Given the description of an element on the screen output the (x, y) to click on. 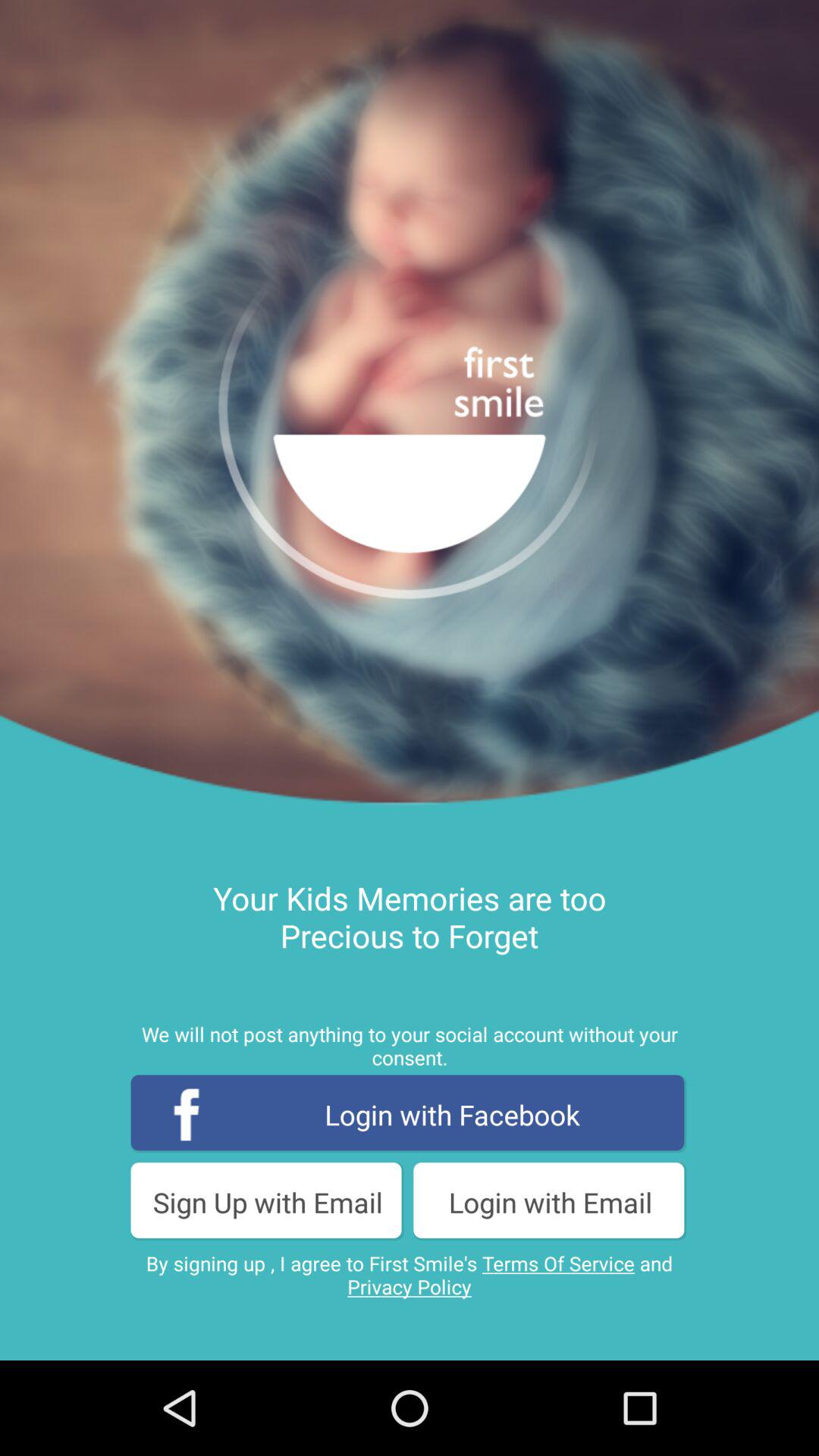
open item above the by signing up (267, 1202)
